Given the description of an element on the screen output the (x, y) to click on. 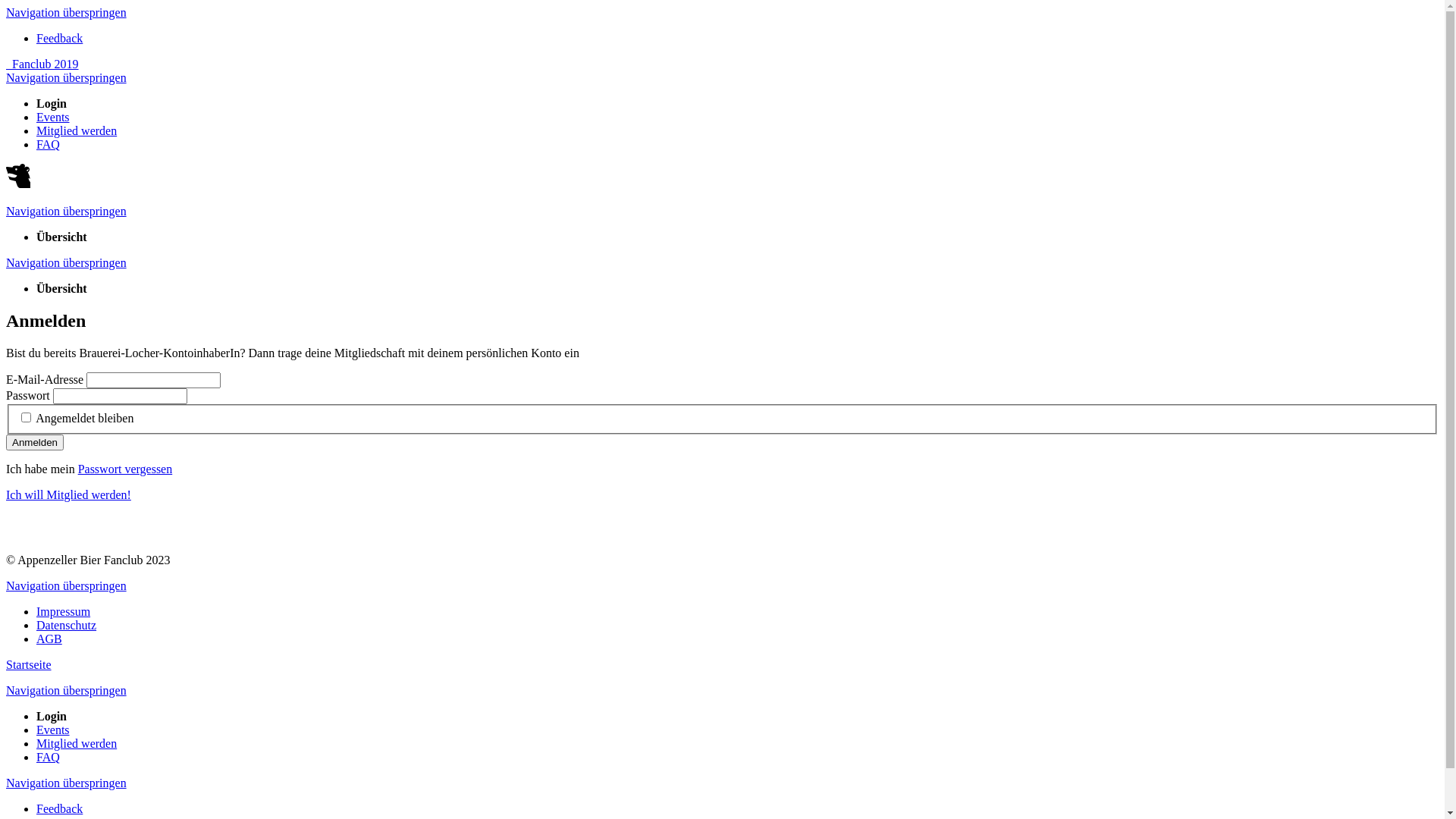
Events Element type: text (52, 729)
Mitglied werden Element type: text (76, 743)
Ich will Mitglied werden! Element type: text (68, 494)
FAQ Element type: text (47, 144)
Datenschutz Element type: text (66, 624)
Anmelden Element type: text (34, 442)
Mitglied werden Element type: text (76, 130)
Passwort vergessen Element type: text (125, 468)
Startseite Element type: text (28, 664)
Fanclub 2019 Element type: text (42, 63)
FAQ Element type: text (47, 756)
AGB Element type: text (49, 638)
Feedback Element type: text (59, 808)
Feedback Element type: text (59, 37)
Events Element type: text (52, 116)
Impressum Element type: text (63, 611)
